Given the description of an element on the screen output the (x, y) to click on. 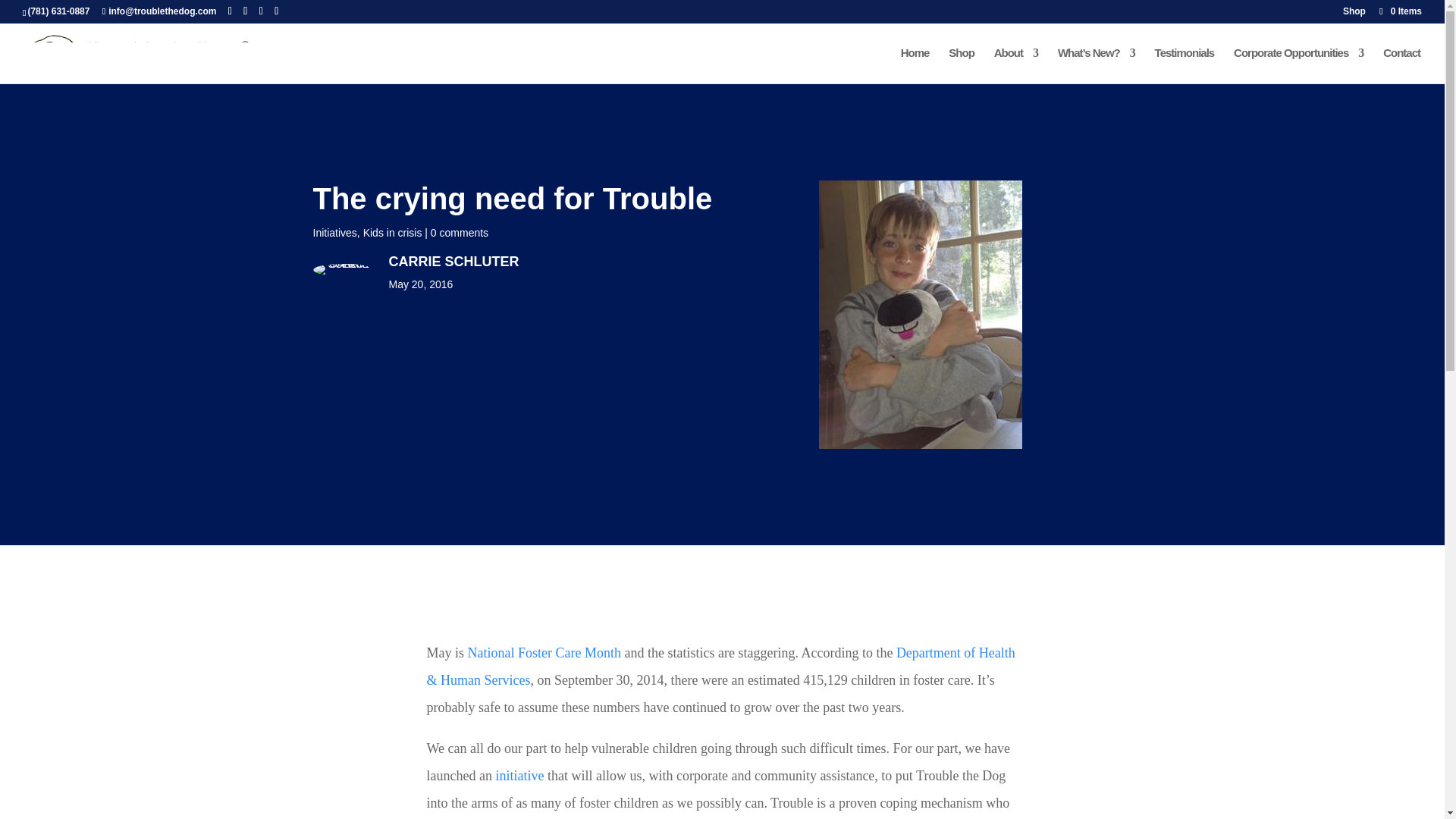
Corporate Opportunities (1297, 65)
0 comments (458, 232)
About (1016, 65)
0 Items (1399, 10)
Initiatives (334, 232)
Contact (1402, 65)
Testimonials (1184, 65)
National Foster Care Month (543, 652)
Shop (1353, 14)
initiative (519, 775)
